Given the description of an element on the screen output the (x, y) to click on. 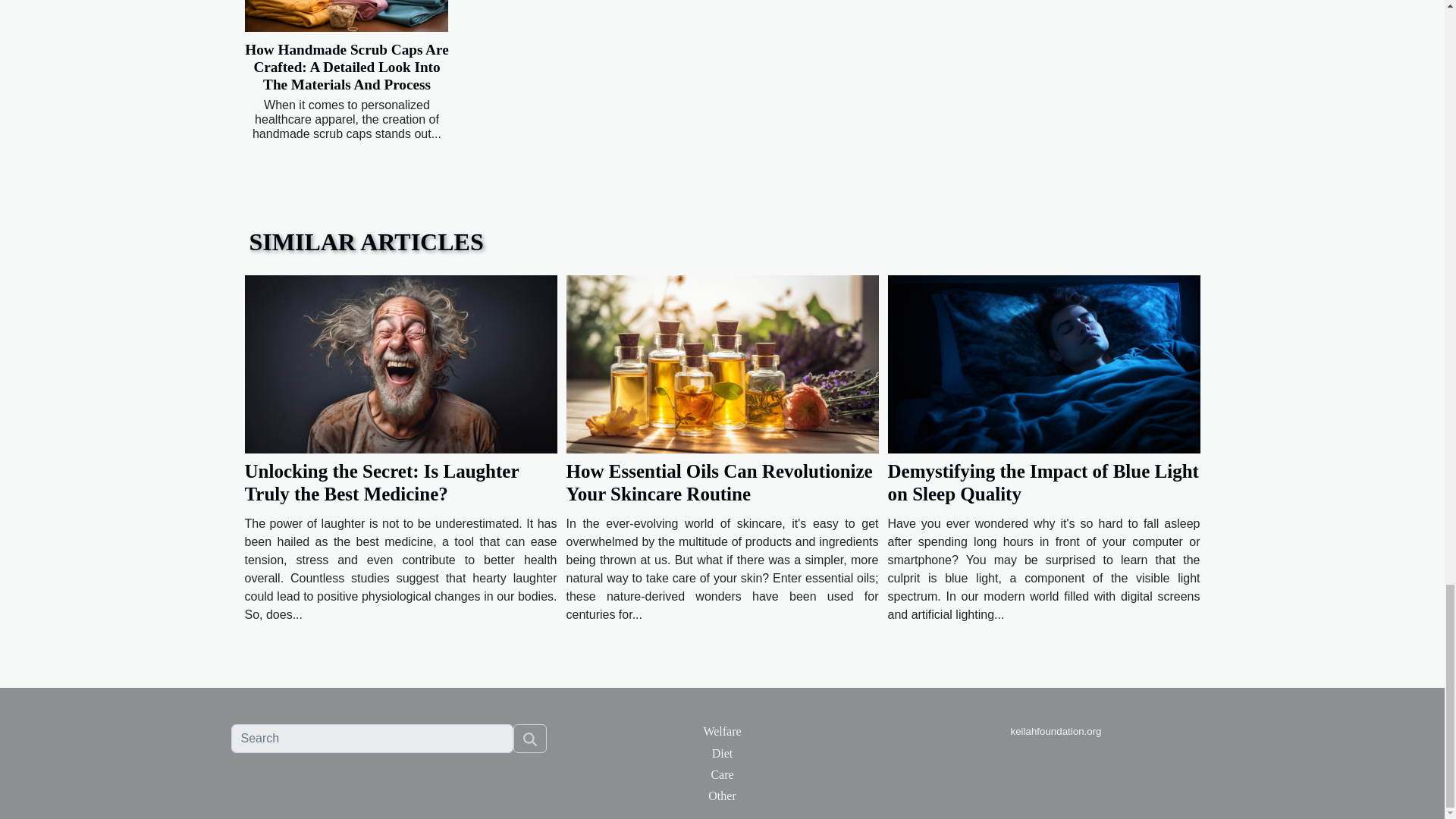
Unlocking the Secret: Is Laughter Truly the Best Medicine? (381, 482)
Demystifying the Impact of Blue Light on Sleep Quality (1042, 482)
Demystifying the Impact of Blue Light on Sleep Quality (1042, 482)
How Essential Oils Can Revolutionize Your Skincare Routine (721, 363)
Welfare (722, 730)
Diet (722, 753)
How Essential Oils Can Revolutionize Your Skincare Routine (719, 482)
Unlocking the Secret: Is Laughter Truly the Best Medicine? (381, 482)
Demystifying the Impact of Blue Light on Sleep Quality (1042, 363)
Unlocking the Secret: Is Laughter Truly the Best Medicine? (400, 363)
How Essential Oils Can Revolutionize Your Skincare Routine (719, 482)
Welfare (722, 730)
